Given the description of an element on the screen output the (x, y) to click on. 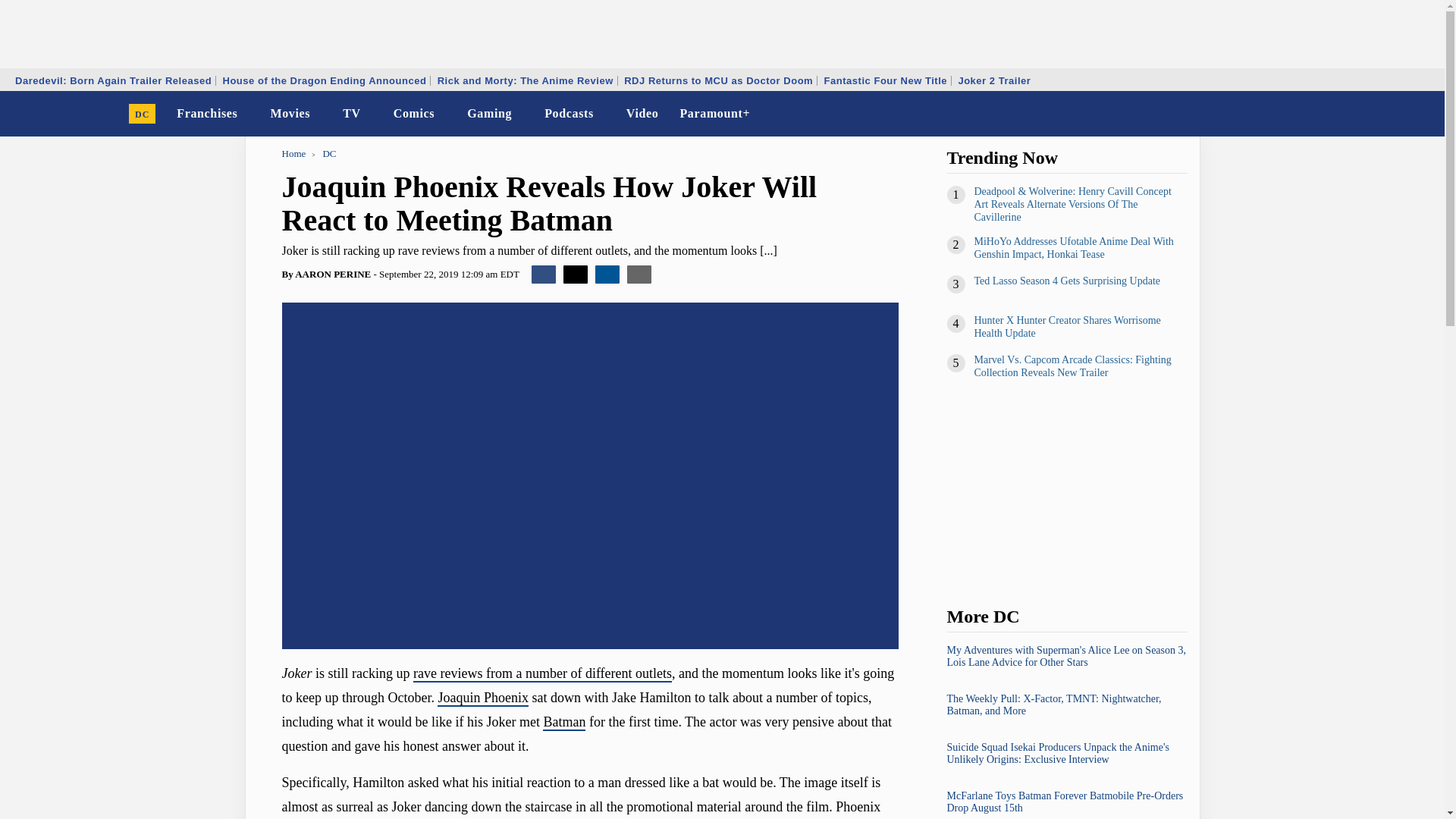
RDJ Returns to MCU as Doctor Doom (718, 80)
Movies (289, 113)
Rick and Morty: The Anime Review (525, 80)
Fantastic Four New Title (886, 80)
Search (1422, 114)
House of the Dragon Ending Announced (323, 80)
Joker 2 Trailer (993, 80)
DC (142, 113)
Daredevil: Born Again Trailer Released (113, 80)
Comics (414, 113)
